Given the description of an element on the screen output the (x, y) to click on. 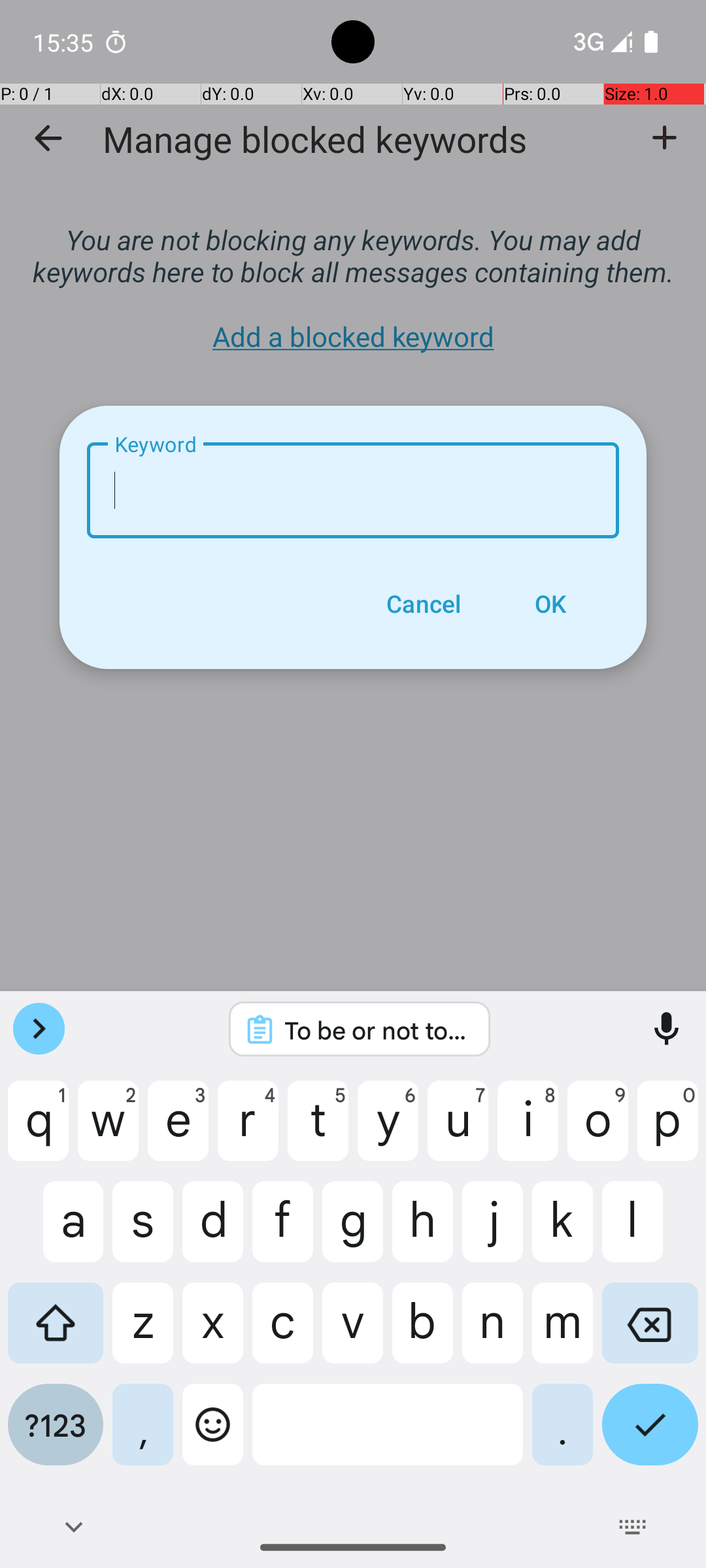
Keyword Element type: android.widget.EditText (352, 490)
